Given the description of an element on the screen output the (x, y) to click on. 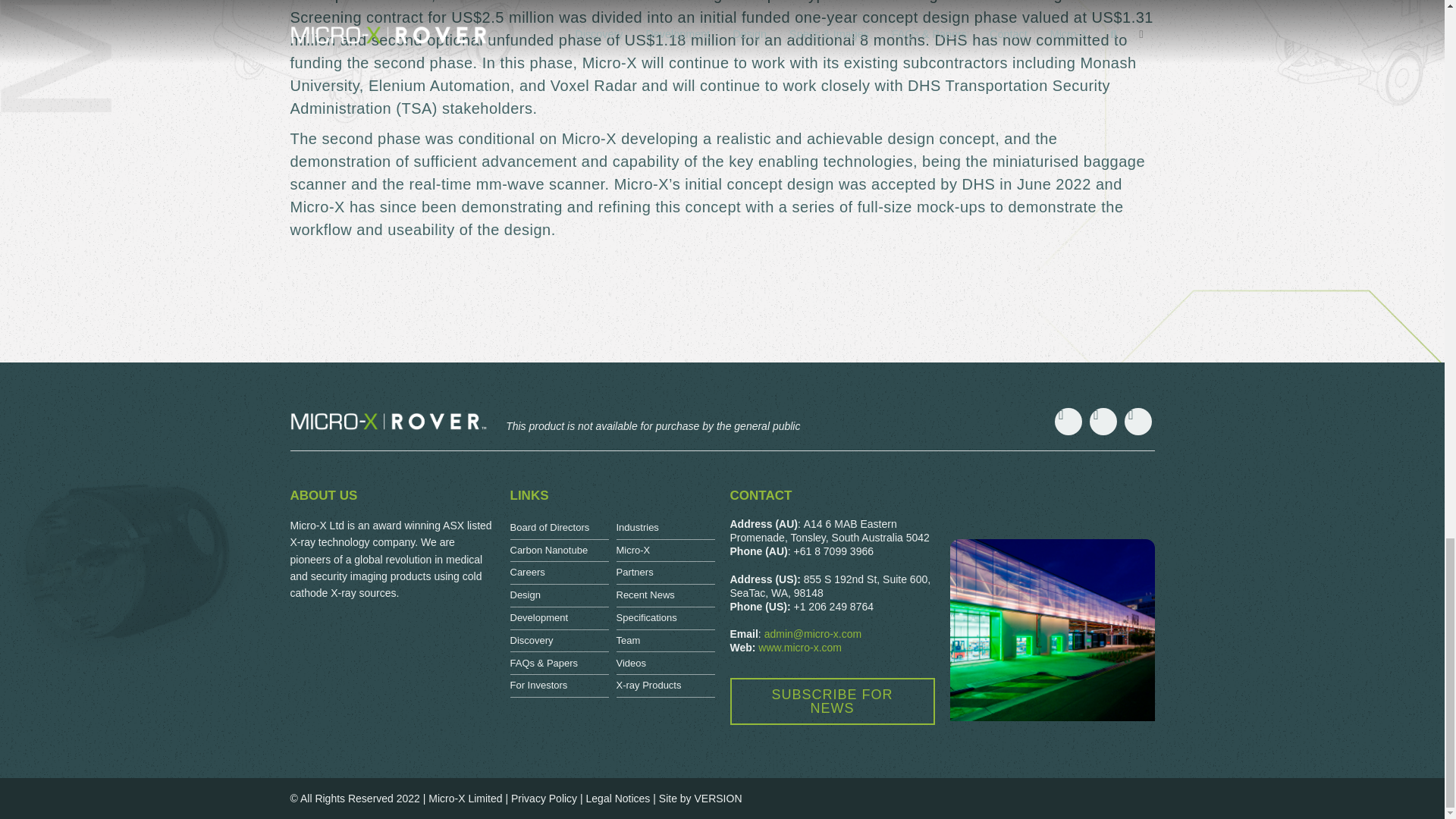
X-ray Products (664, 685)
Carbon Nanotube (558, 550)
Discovery (558, 640)
SUBSCRIBE FOR NEWS (831, 701)
VERSION (717, 798)
Legal Notices (618, 798)
Videos (664, 662)
Development (558, 618)
Recent News (664, 595)
Board of Directors (558, 527)
Micro-X (664, 550)
Privacy Policy (543, 798)
Team (664, 640)
www.micro-x.com (799, 647)
Design (558, 595)
